Given the description of an element on the screen output the (x, y) to click on. 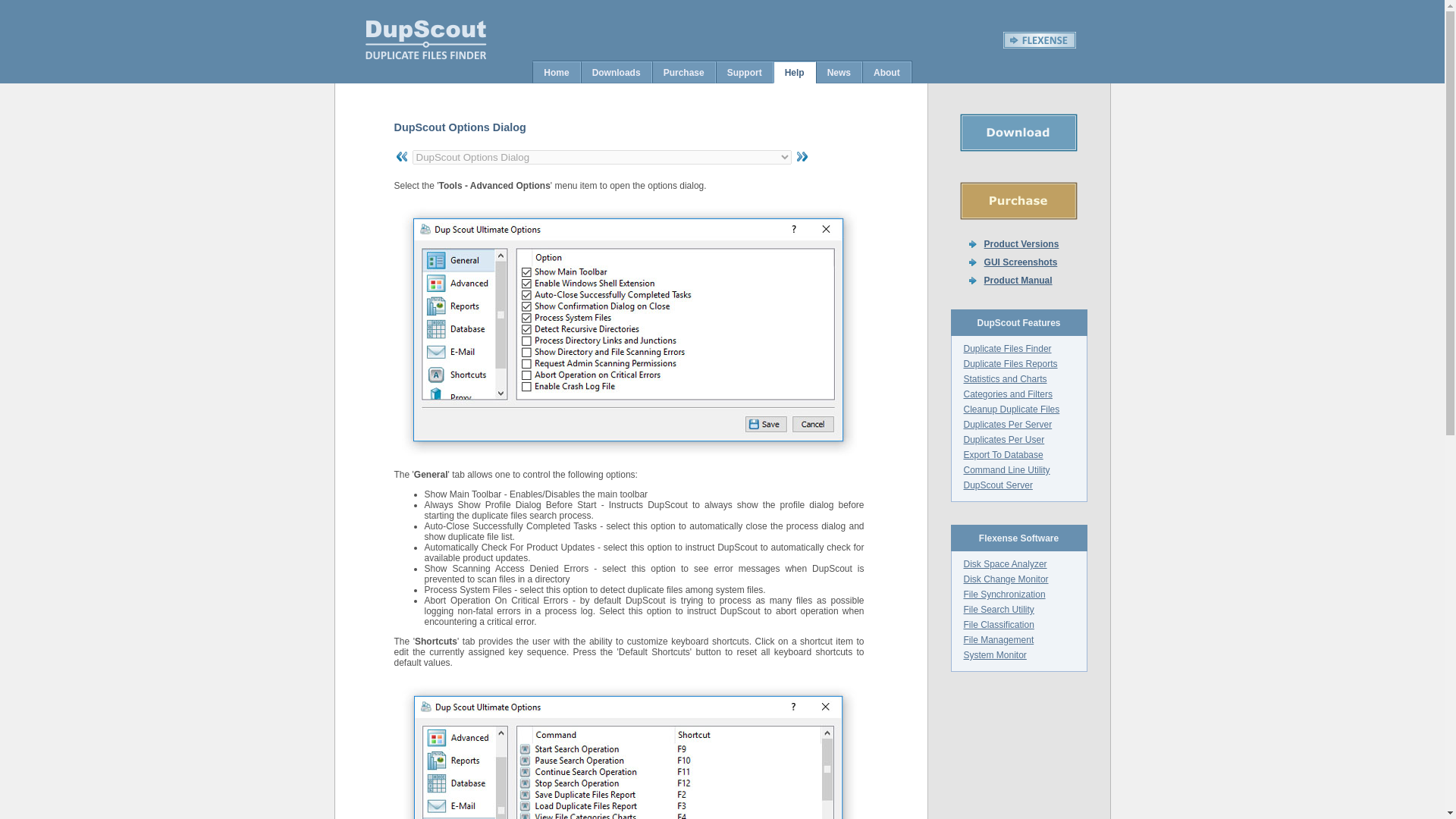
File Classification (997, 624)
DupScout Server (997, 484)
Purchase (683, 71)
File Search Utility (997, 609)
GUI Screenshots (1021, 262)
File Management (997, 639)
Categories and Filters (1006, 394)
Statistics and Charts (1004, 378)
Home (555, 71)
Duplicates Per Server (1006, 424)
Duplicate Files Finder (1006, 348)
Disk Space Analyzer (1004, 563)
About (887, 71)
Next Page (801, 156)
Export To Database (1002, 454)
